Given the description of an element on the screen output the (x, y) to click on. 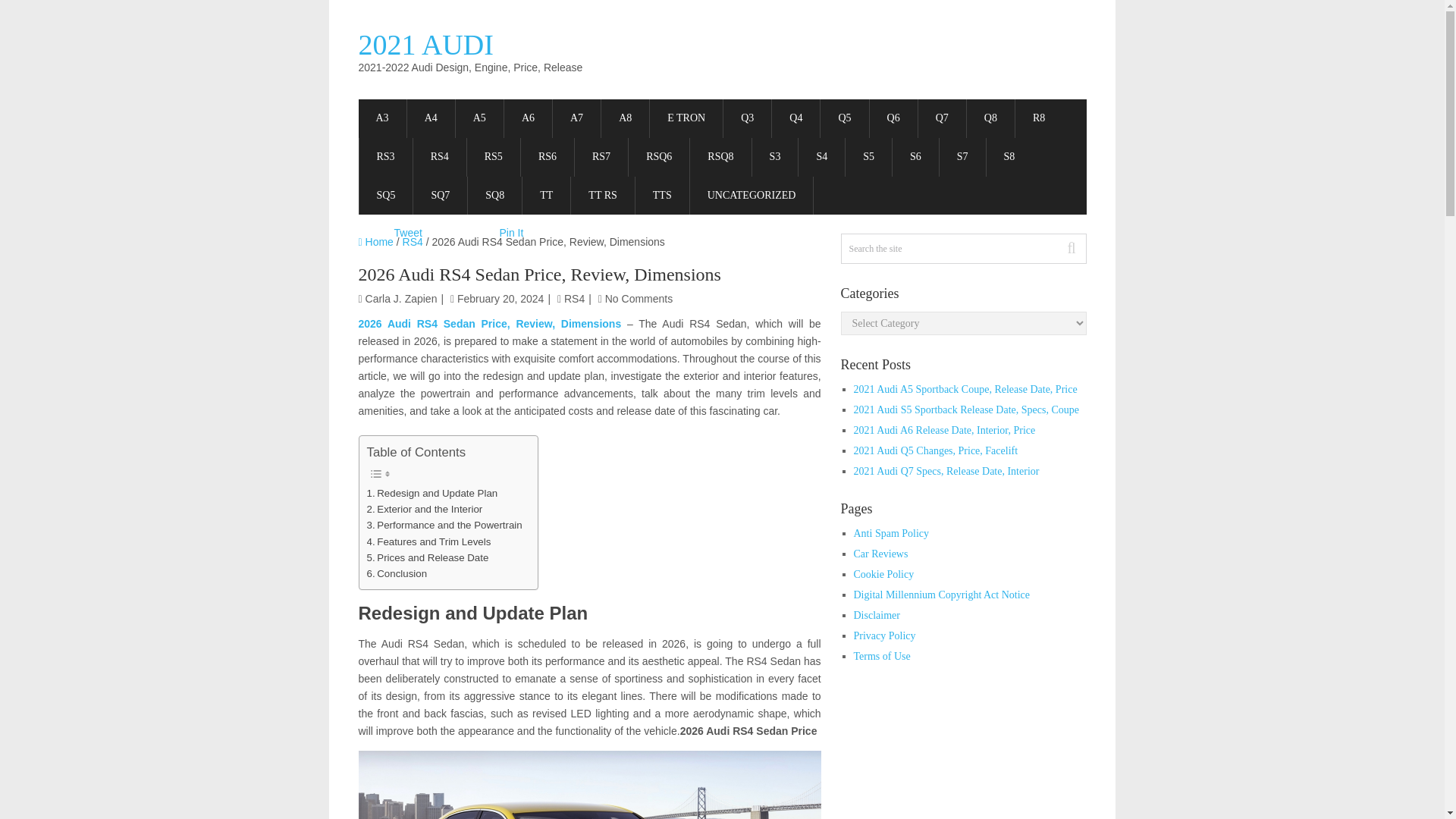
RS4 (439, 157)
Conclusion (397, 573)
Q3 (747, 118)
RSQ8 (720, 157)
Carla J. Zapien (401, 298)
View all posts in RS4 (574, 298)
UNCATEGORIZED (751, 195)
A5 (479, 118)
SQ8 (494, 195)
A3 (382, 118)
